Given the description of an element on the screen output the (x, y) to click on. 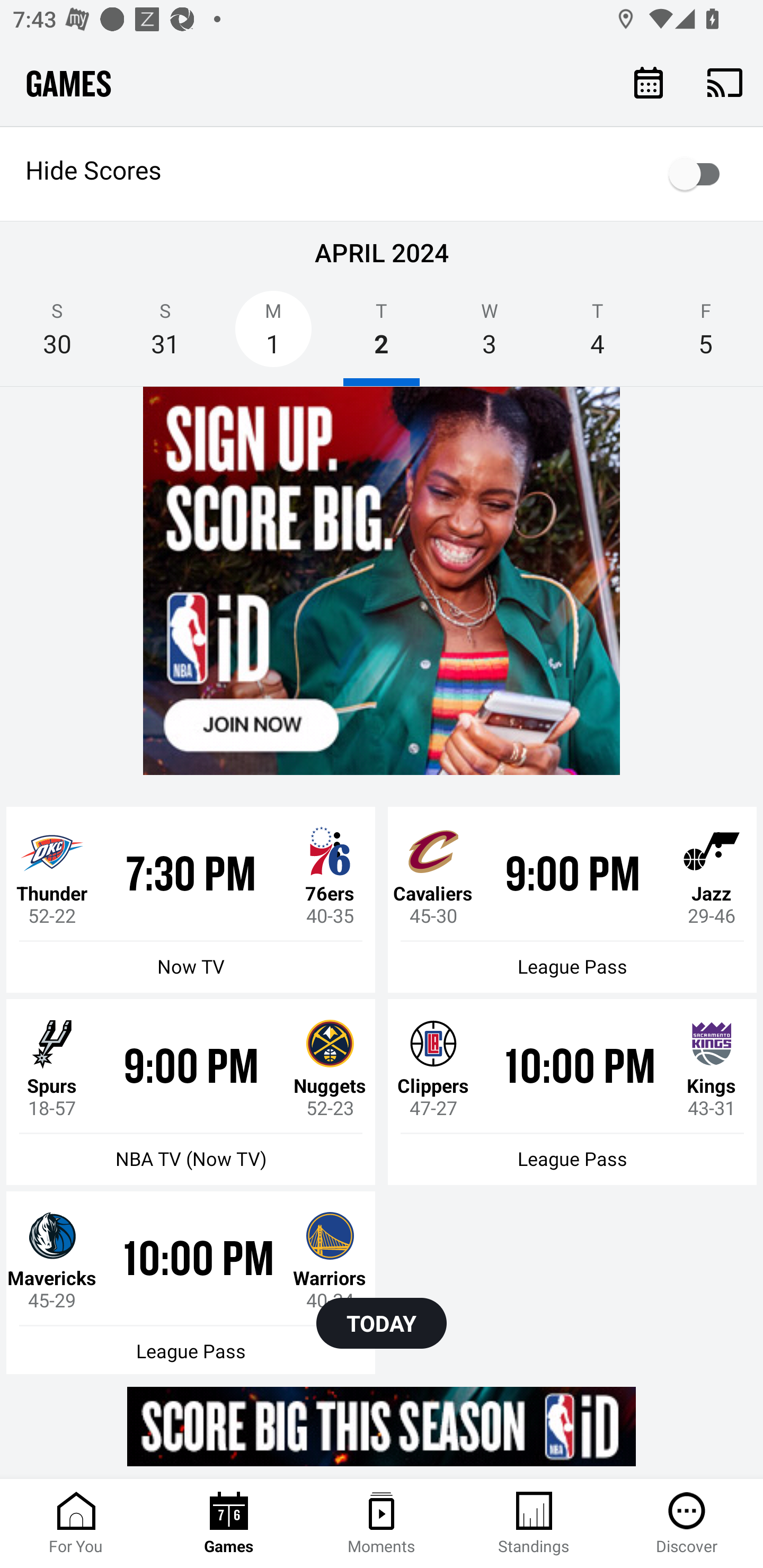
Cast. Disconnected (724, 82)
Calendar (648, 81)
Hide Scores (381, 174)
S 30 (57, 334)
S 31 (165, 334)
M 1 (273, 334)
T 2 (381, 334)
W 3 (489, 334)
T 4 (597, 334)
F 5 (705, 334)
g5nqqygr7owph (381, 580)
Thunder 52-22 7:30 PM 76ers 40-35 Now TV (190, 899)
Cavaliers 45-30 9:00 PM Jazz 29-46 League Pass (571, 899)
Spurs 18-57 9:00 PM Nuggets 52-23 NBA TV (Now TV) (190, 1091)
Clippers 47-27 10:00 PM Kings 43-31 League Pass (571, 1091)
TODAY (381, 1323)
g5nqqygr7owph (381, 1426)
For You (76, 1523)
Moments (381, 1523)
Standings (533, 1523)
Discover (686, 1523)
